Given the description of an element on the screen output the (x, y) to click on. 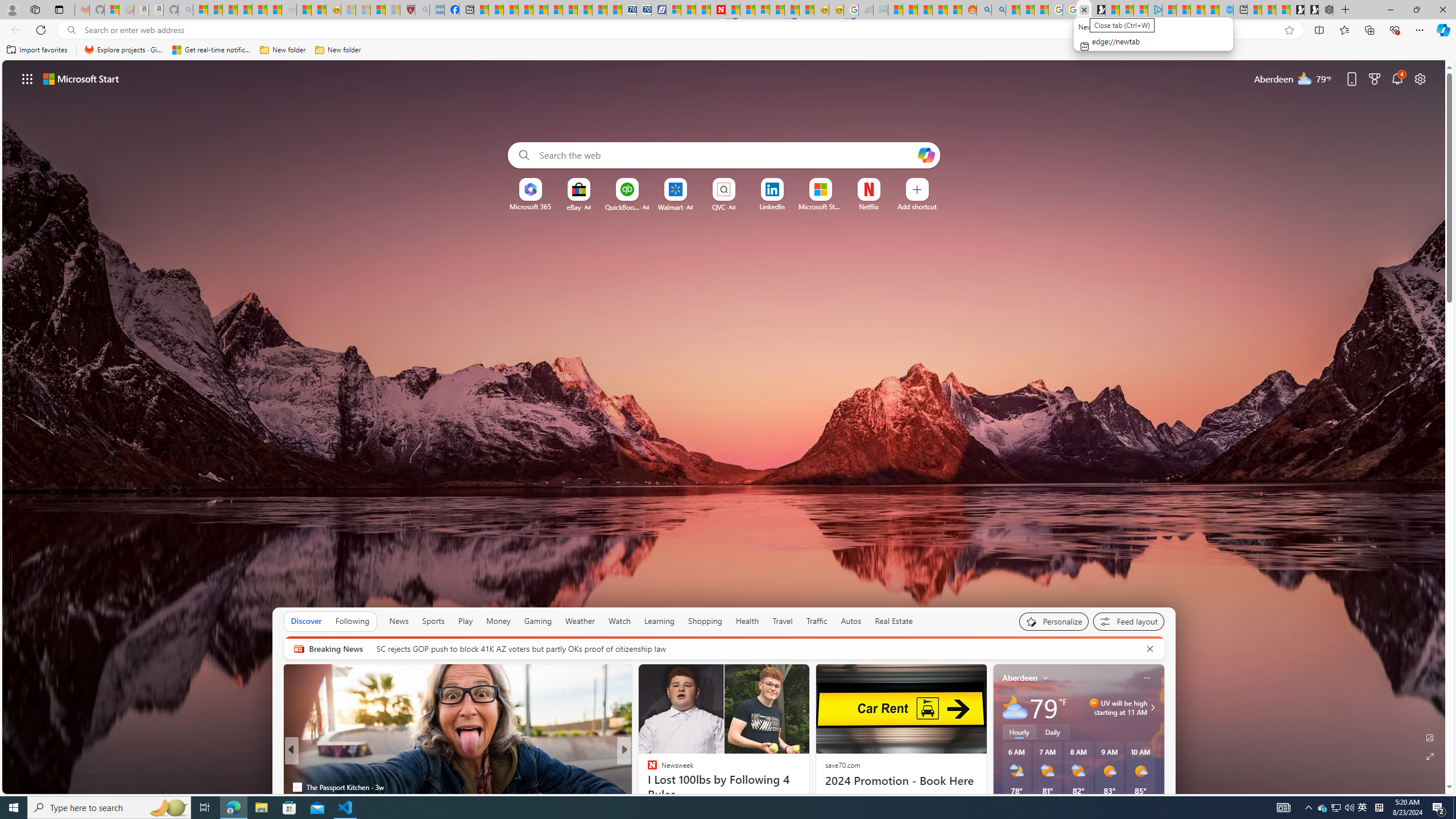
Feed settings (1128, 621)
App launcher (27, 78)
World - MSN (510, 9)
Recipes - MSN - Sleeping (348, 9)
Aberdeen (1019, 678)
Home | Sky Blue Bikes - Sky Blue Bikes (1225, 9)
Play (465, 621)
Microsoft Start Gaming (1097, 9)
Robert H. Shmerling, MD - Harvard Health (406, 9)
